Given the description of an element on the screen output the (x, y) to click on. 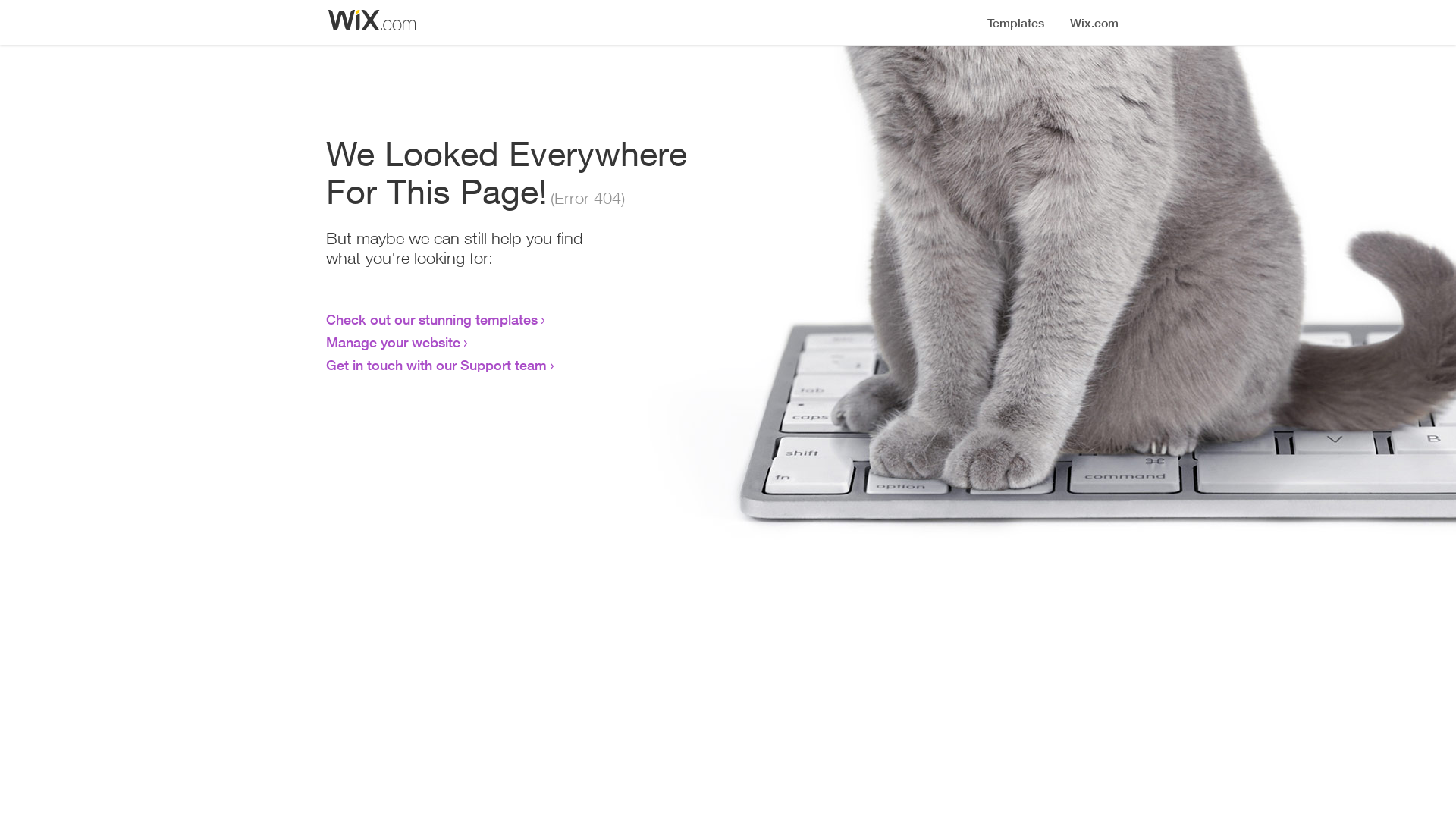
Check out our stunning templates Element type: text (431, 318)
Manage your website Element type: text (393, 341)
Get in touch with our Support team Element type: text (436, 364)
